Given the description of an element on the screen output the (x, y) to click on. 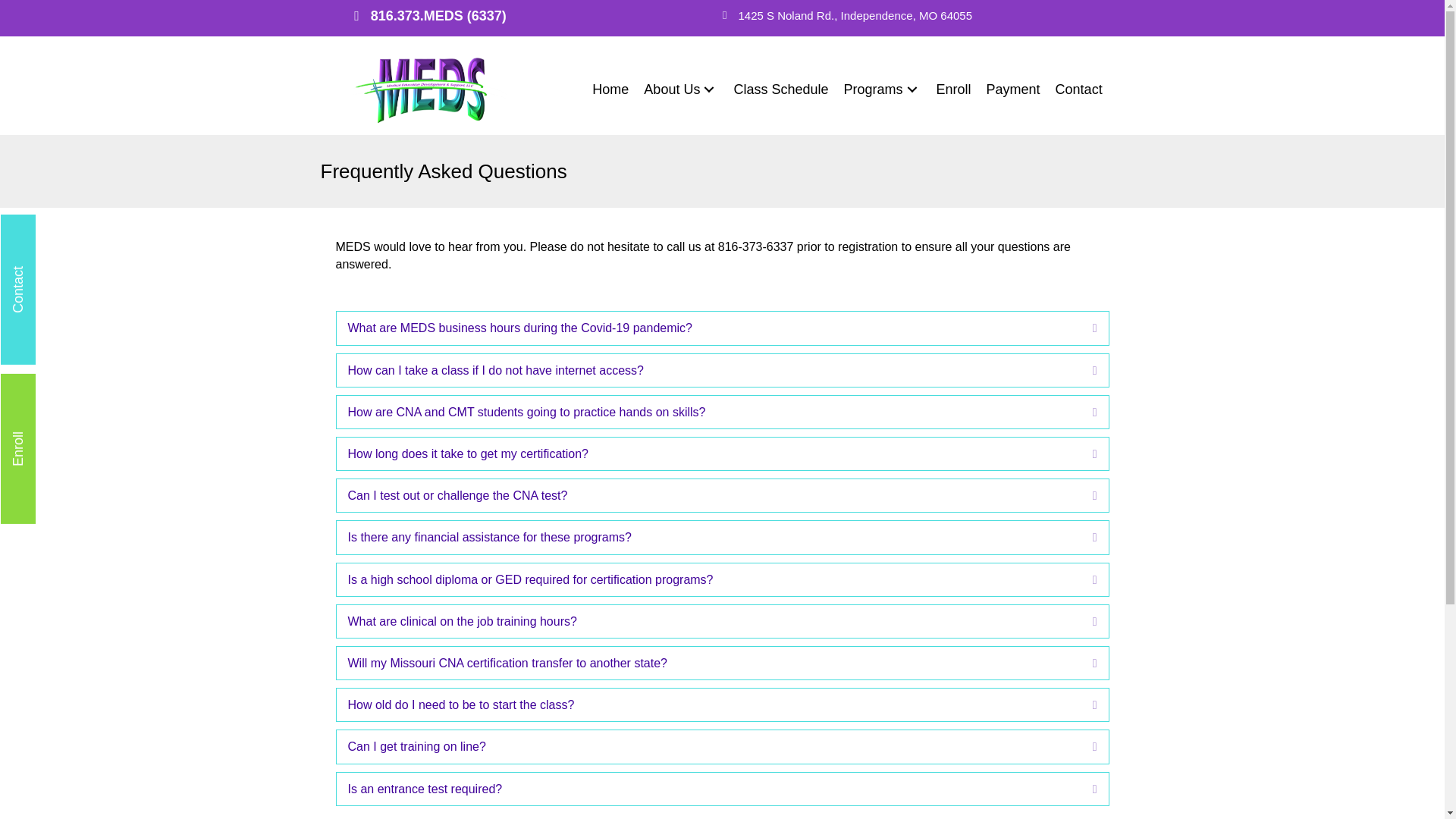
What are clinical on the job training hours? (707, 620)
Expand (1083, 537)
Programs (881, 89)
Expand (1083, 370)
Expand (1083, 579)
Is there any financial assistance for these programs? (707, 537)
What are MEDS business hours during the Covid-19 pandemic? (707, 327)
MEDS-logo (429, 89)
How long does it take to get my certification? (707, 453)
Expand (1083, 620)
Can I test out or challenge the CNA test? (707, 495)
Class Schedule (780, 89)
